Given the description of an element on the screen output the (x, y) to click on. 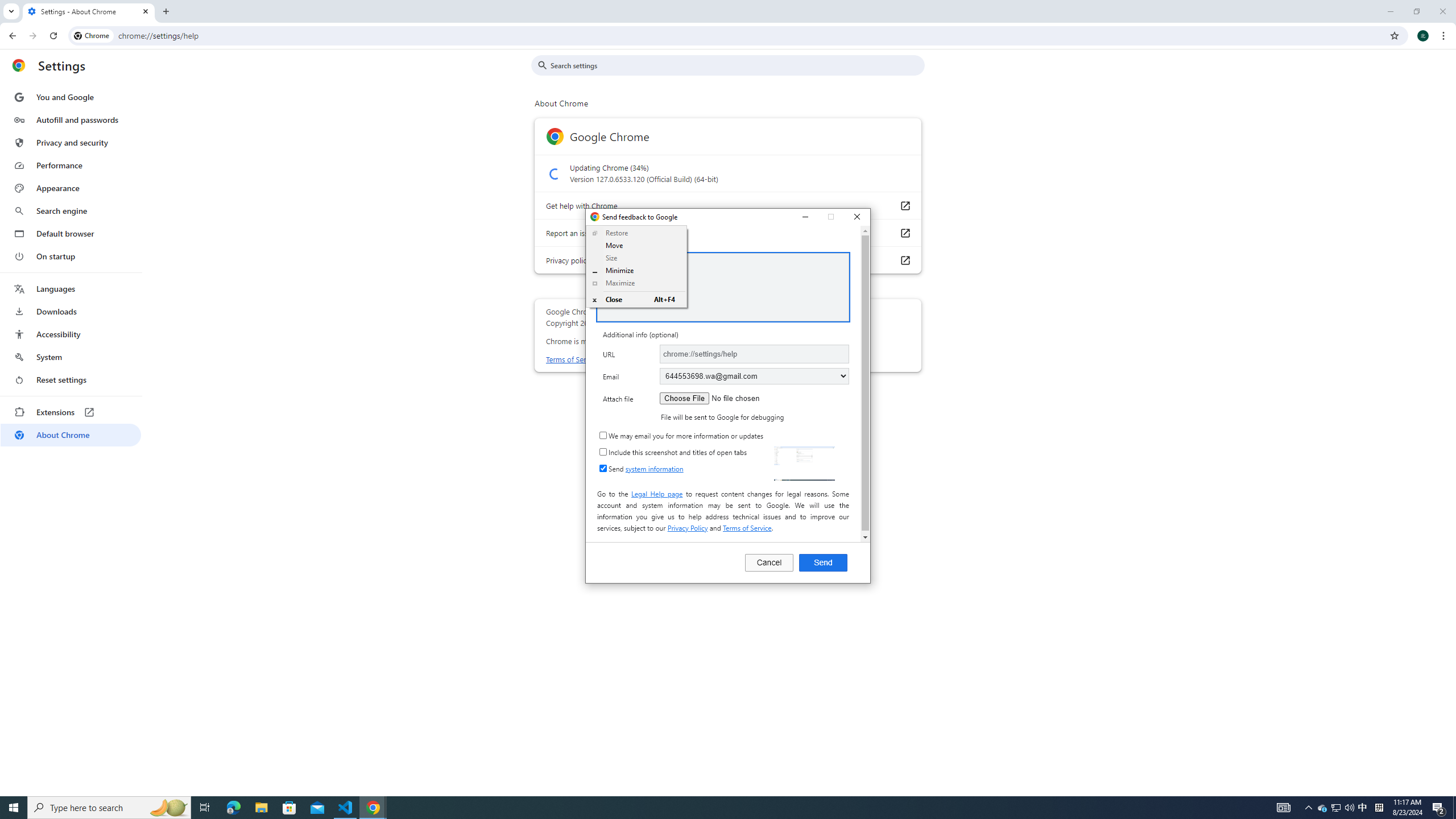
AutomationID: 4105 (1283, 807)
Downloads (70, 311)
Performance (70, 164)
Choose File: No file chosen (731, 398)
Action Center, 2 new notifications (1439, 807)
URL (753, 353)
Move (636, 245)
On startup (70, 255)
Settings - About Chrome (88, 11)
Microsoft Edge (233, 807)
